Given the description of an element on the screen output the (x, y) to click on. 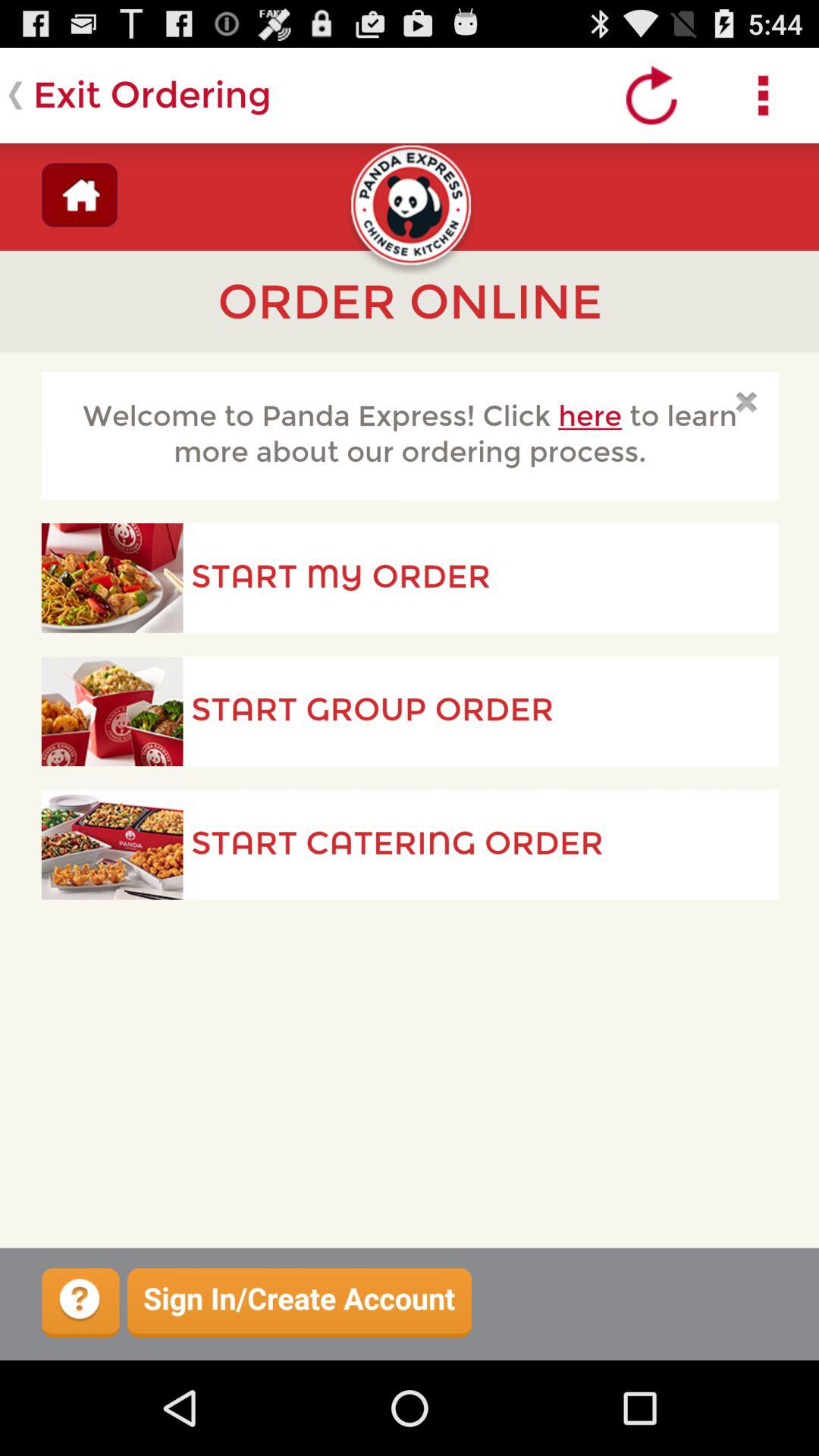
refresh (651, 95)
